Given the description of an element on the screen output the (x, y) to click on. 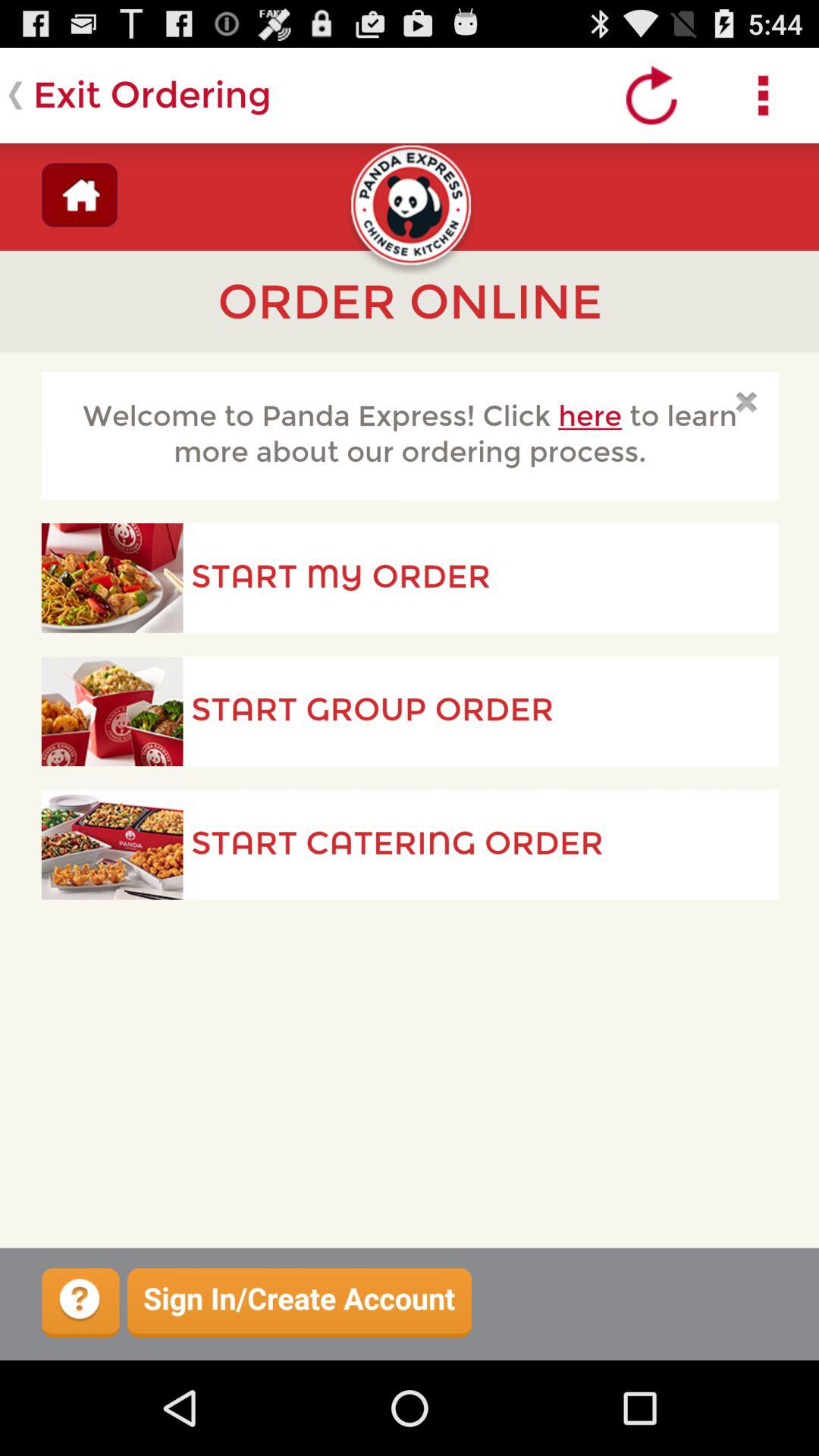
refresh (651, 95)
